Given the description of an element on the screen output the (x, y) to click on. 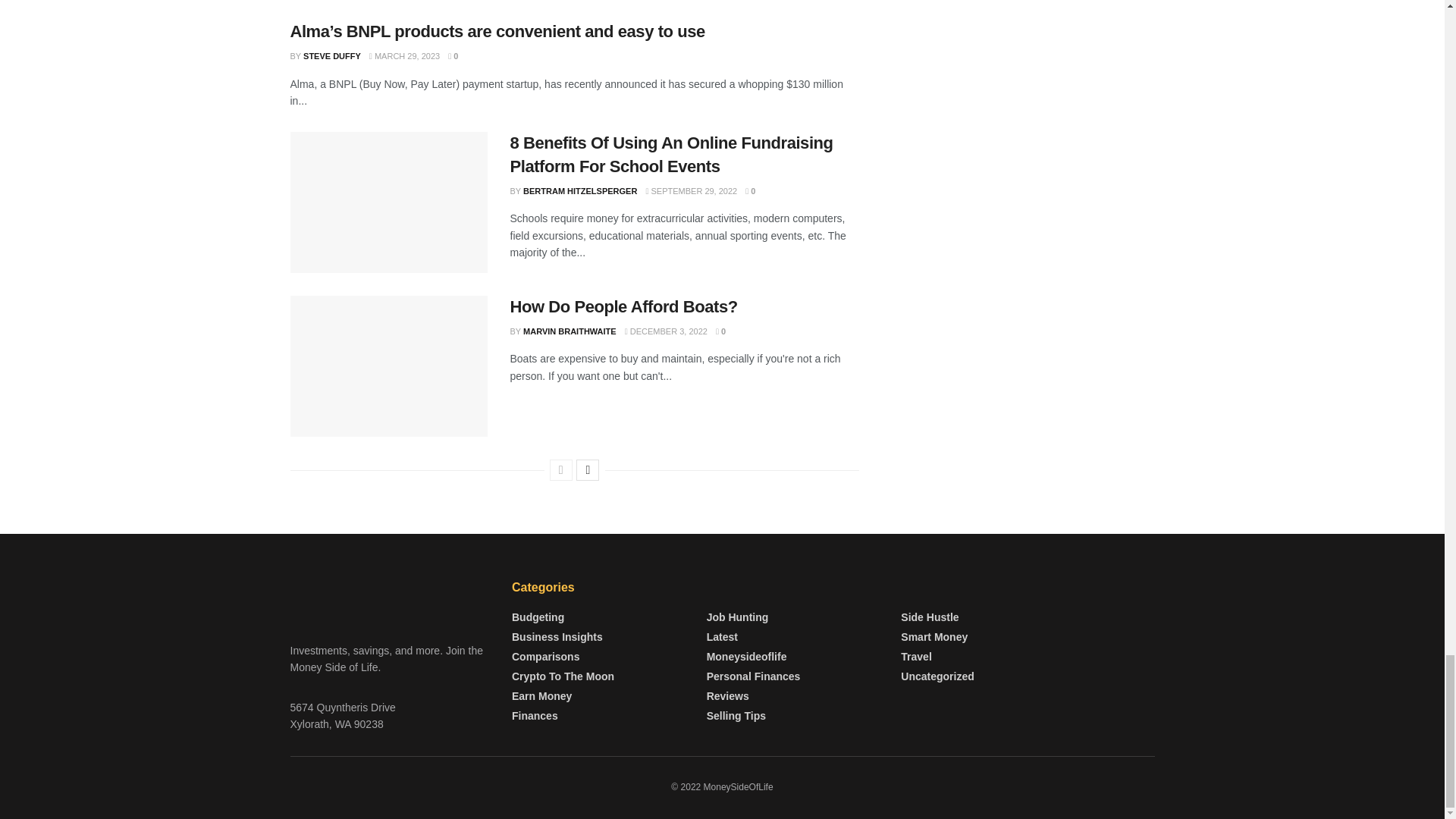
Previous (561, 469)
Next (587, 469)
moneyside (389, 599)
